Given the description of an element on the screen output the (x, y) to click on. 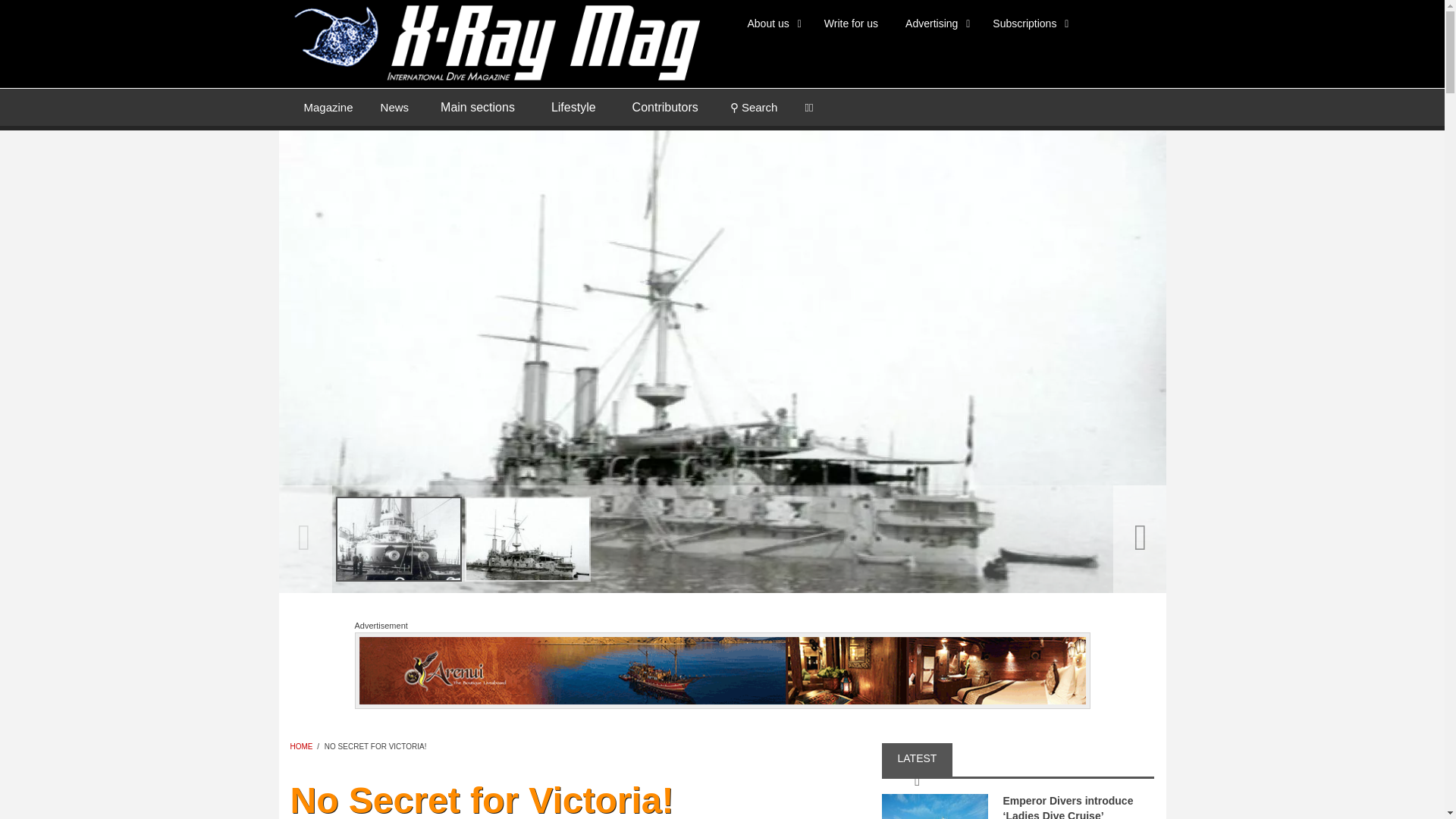
Write for us (850, 23)
Subscriptions (1027, 23)
Magazine (327, 106)
About us (771, 23)
Main sections (477, 107)
Advertising (934, 23)
Latest posts (394, 106)
News (394, 106)
Home (493, 41)
Advertising and promotions (934, 23)
Back issues (327, 106)
